Given the description of an element on the screen output the (x, y) to click on. 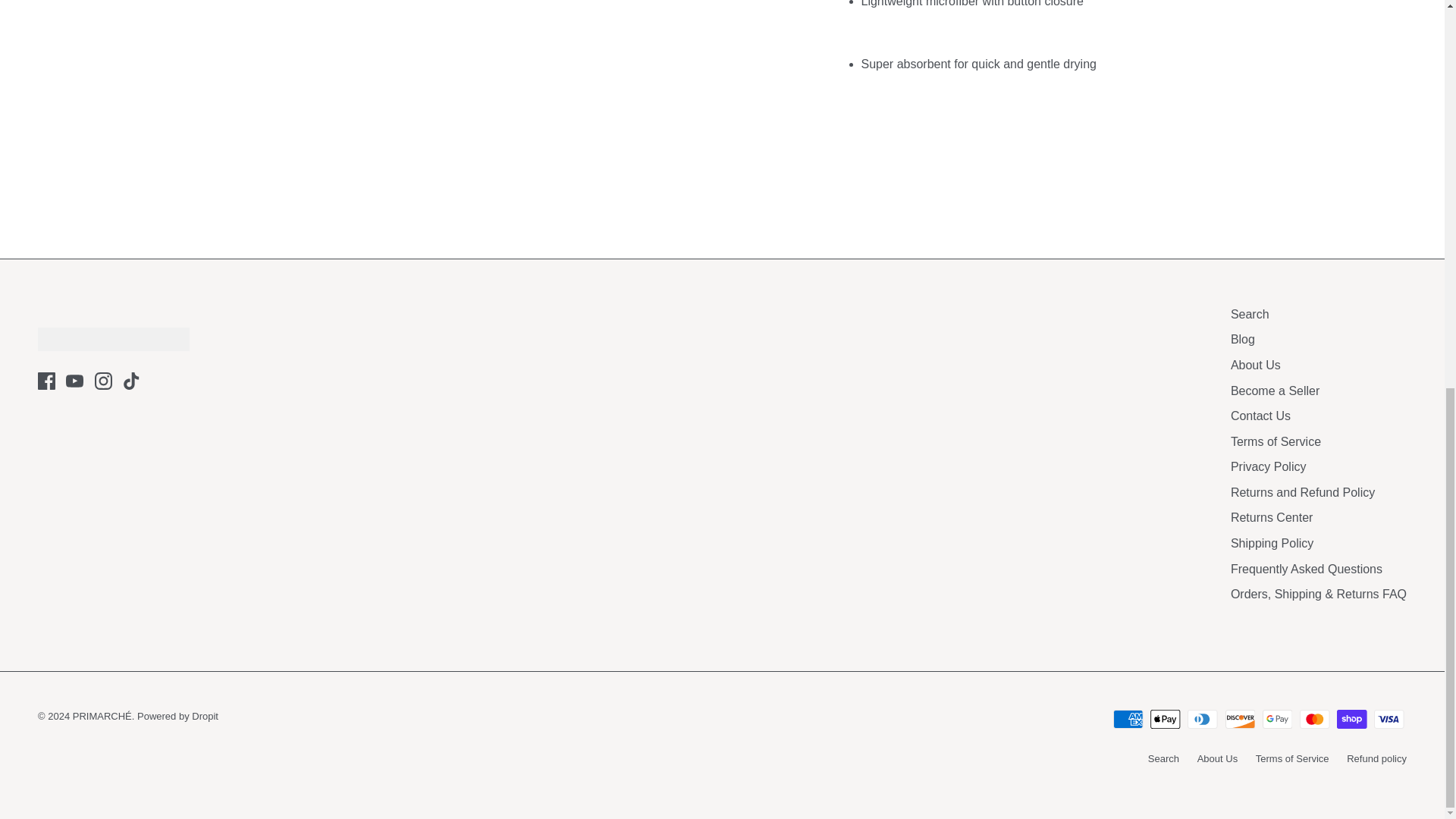
Visa (1388, 719)
Mastercard (1314, 719)
Shop Pay (1351, 719)
American Express (1127, 719)
Facebook (46, 380)
Diners Club (1202, 719)
Discover (1240, 719)
Dropit shopping. Unifying retail (177, 715)
Google Pay (1277, 719)
Apple Pay (1165, 719)
Instagram (103, 380)
Youtube (73, 380)
